Given the description of an element on the screen output the (x, y) to click on. 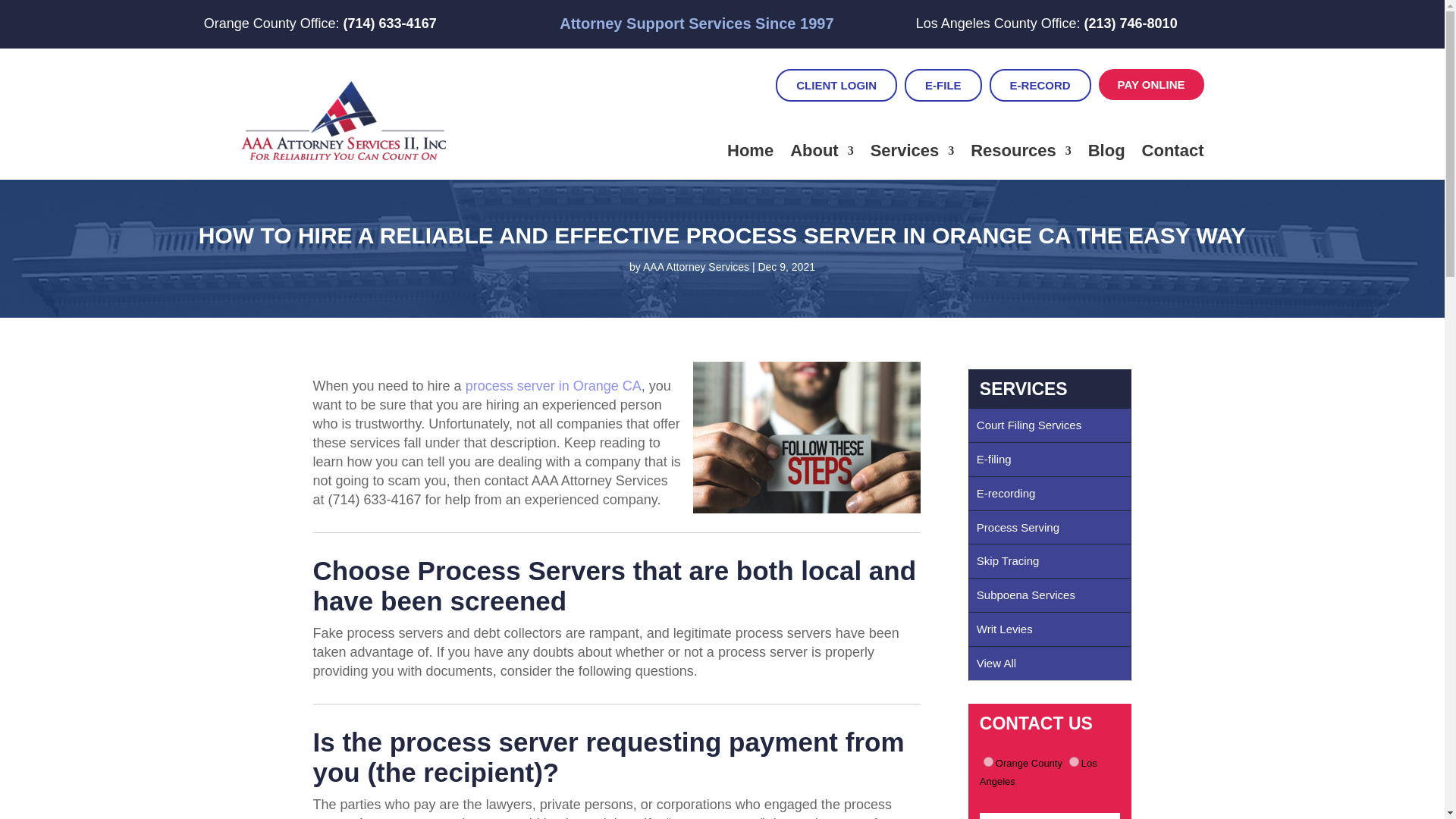
process server in Orange CA (553, 385)
Orange County (988, 761)
Services (912, 150)
Resources (1021, 150)
PAY ONLINE (1151, 84)
E-RECORD (1040, 85)
About (821, 150)
Contact (1172, 150)
E-FILE (942, 85)
Services (912, 150)
